Given the description of an element on the screen output the (x, y) to click on. 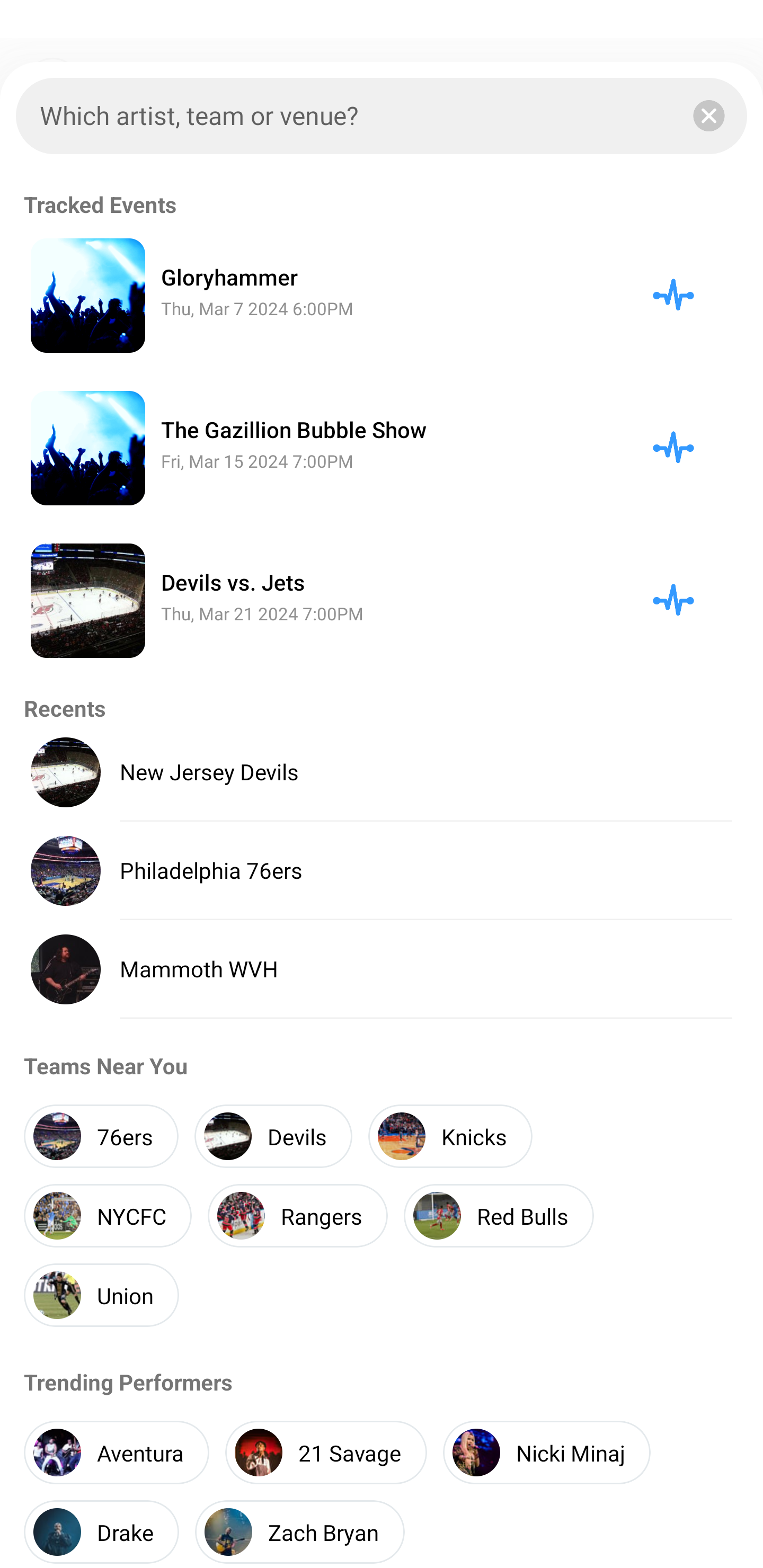
Which artist, team or venue? (381, 115)
New Jersey Devils (381, 771)
Philadelphia 76ers (381, 870)
Mammoth WVH (381, 969)
76ers (101, 1136)
Devils (273, 1136)
Knicks (450, 1136)
NYCFC (107, 1215)
Rangers (297, 1215)
Red Bulls (498, 1215)
Union (101, 1294)
Aventura (116, 1452)
21 Savage (325, 1452)
Nicki Minaj (546, 1452)
Drake (101, 1530)
Zach Bryan (299, 1530)
